Given the description of an element on the screen output the (x, y) to click on. 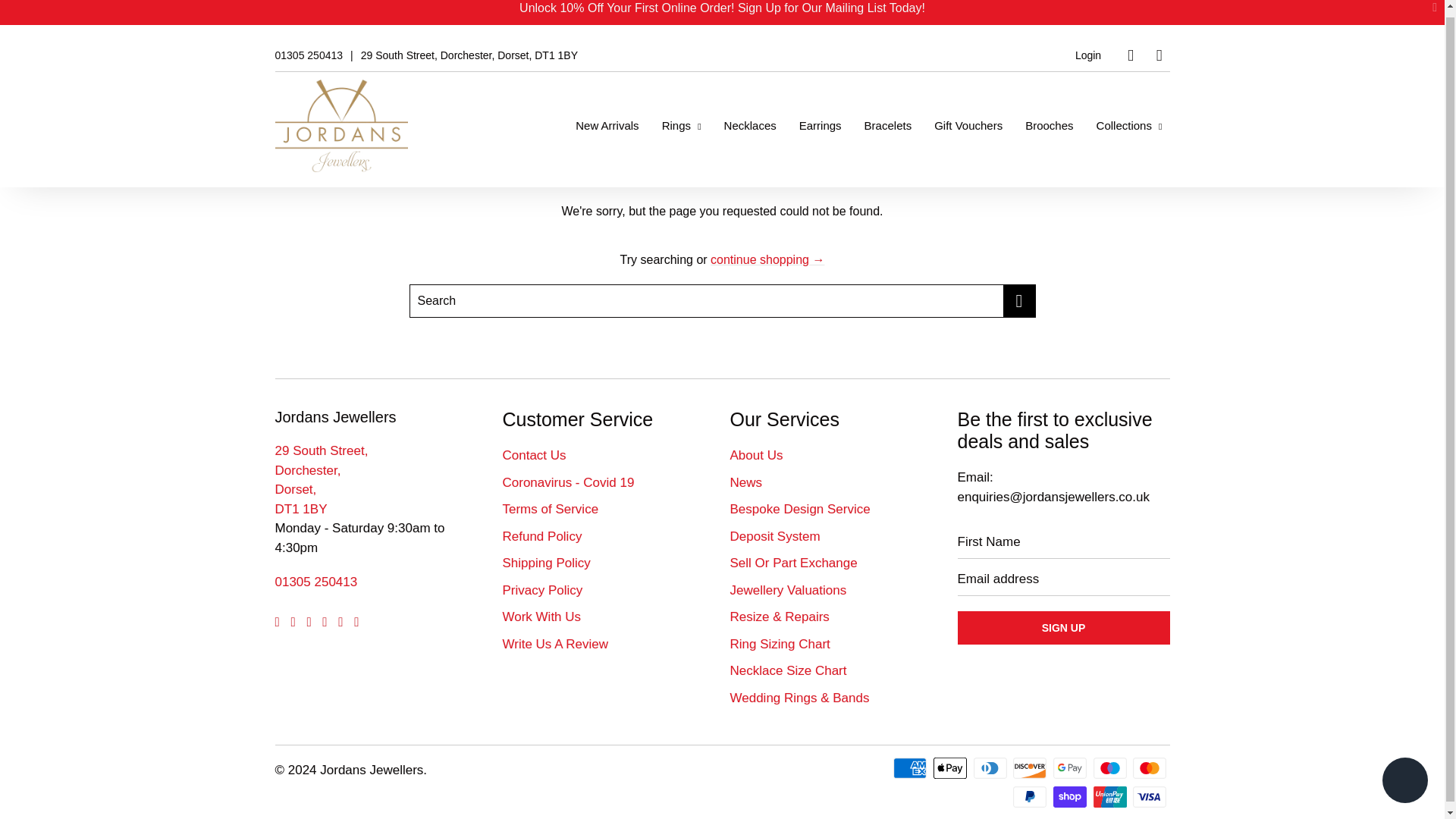
New Arrivals (606, 126)
Brooches (1048, 126)
American Express (911, 767)
Bracelets (888, 126)
Necklaces (750, 126)
Jordans Jewellers on Twitter (277, 622)
Translation missing: en.layout.general.title (1159, 55)
Login (1087, 55)
Diners Club (992, 767)
29 South Street, Dorchester, Dorset, DT1 1BY (469, 55)
Mastercard (1150, 767)
Discover (1031, 767)
Gift Vouchers (968, 126)
PayPal (1031, 796)
Earrings (820, 126)
